Given the description of an element on the screen output the (x, y) to click on. 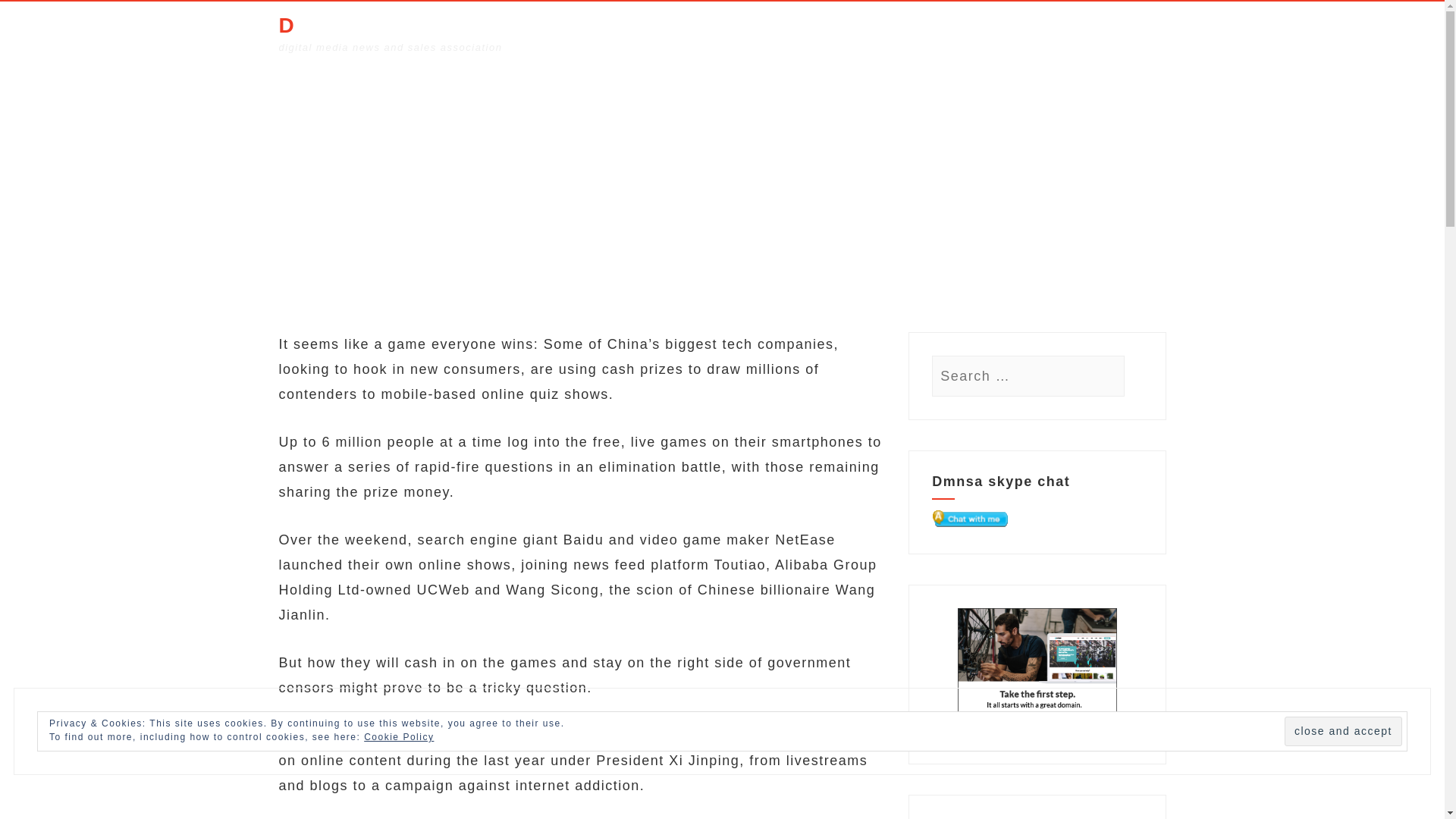
Search (40, 17)
DMNSA (320, 25)
Cookie Policy (398, 737)
close and accept (1343, 731)
CONTACT US (1120, 31)
Home (555, 228)
BUSINESS (880, 31)
close and accept (1343, 731)
TECHNOLOGY (968, 31)
ABOUT (1045, 31)
